Given the description of an element on the screen output the (x, y) to click on. 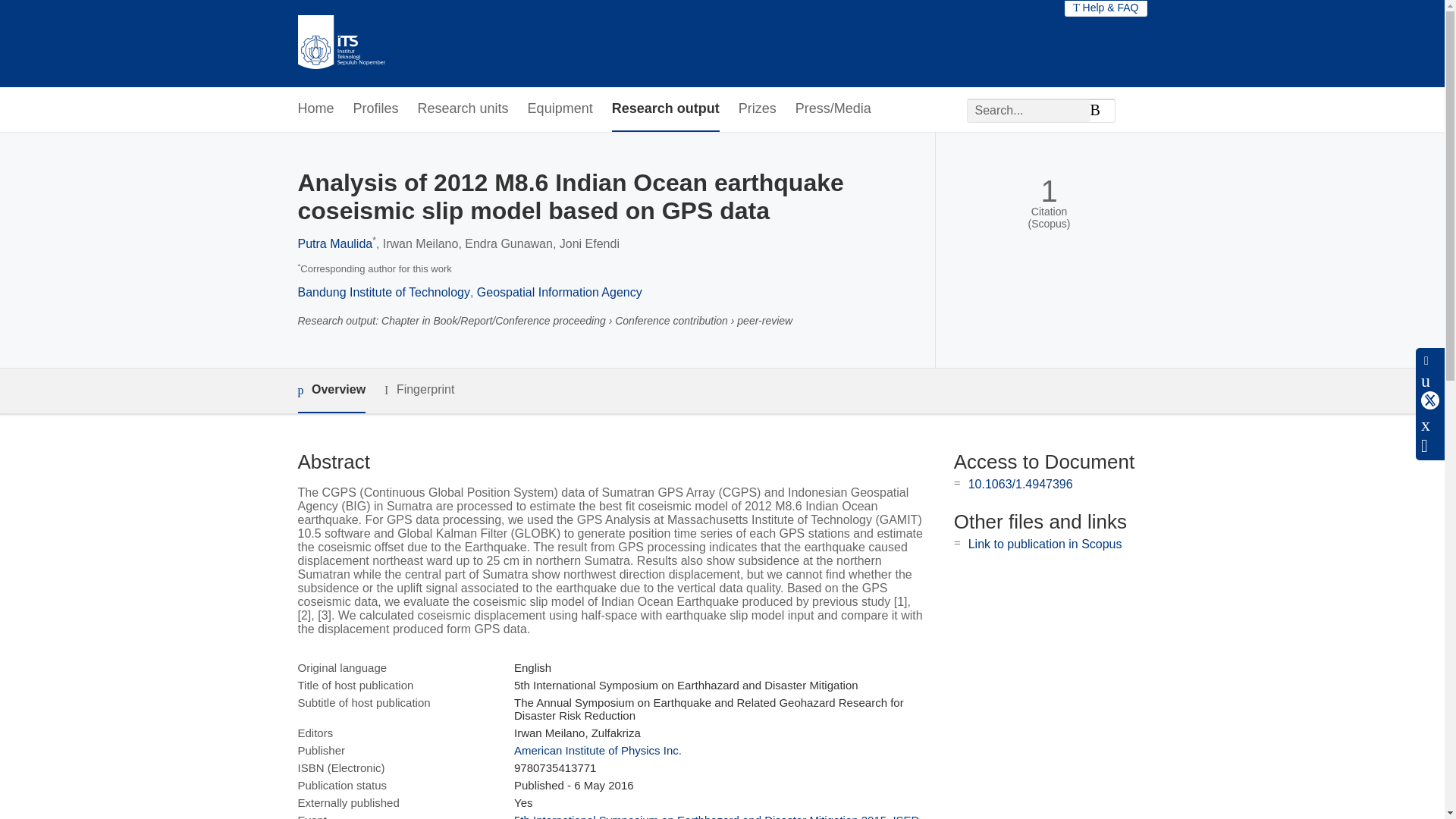
Geospatial Information Agency (559, 291)
Research output (665, 108)
Overview (331, 390)
Equipment (559, 108)
American Institute of Physics Inc. (597, 749)
Bandung Institute of Technology (382, 291)
Putra Maulida (334, 243)
Link to publication in Scopus (1045, 543)
Fingerprint (419, 389)
Research units (462, 108)
Profiles (375, 108)
